Given the description of an element on the screen output the (x, y) to click on. 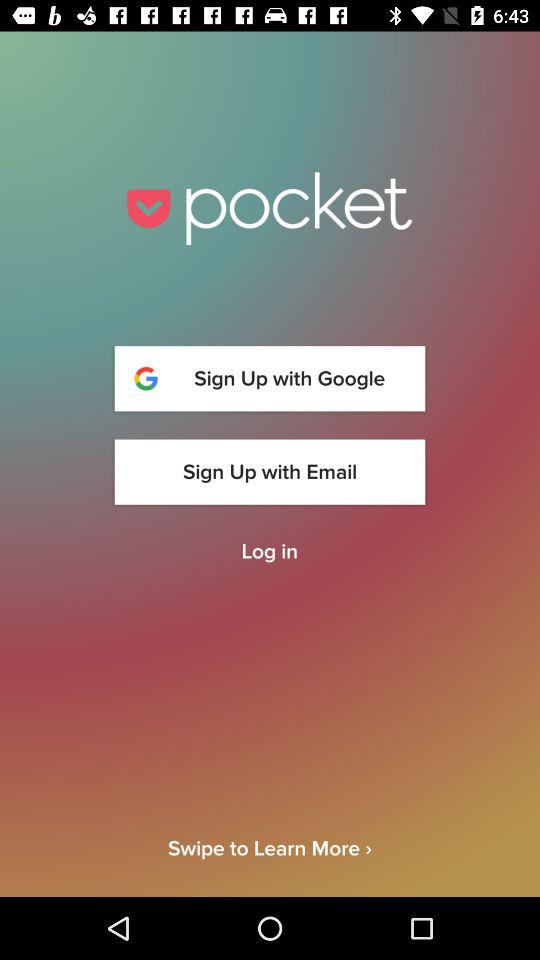
flip until the swipe to learn icon (270, 866)
